Given the description of an element on the screen output the (x, y) to click on. 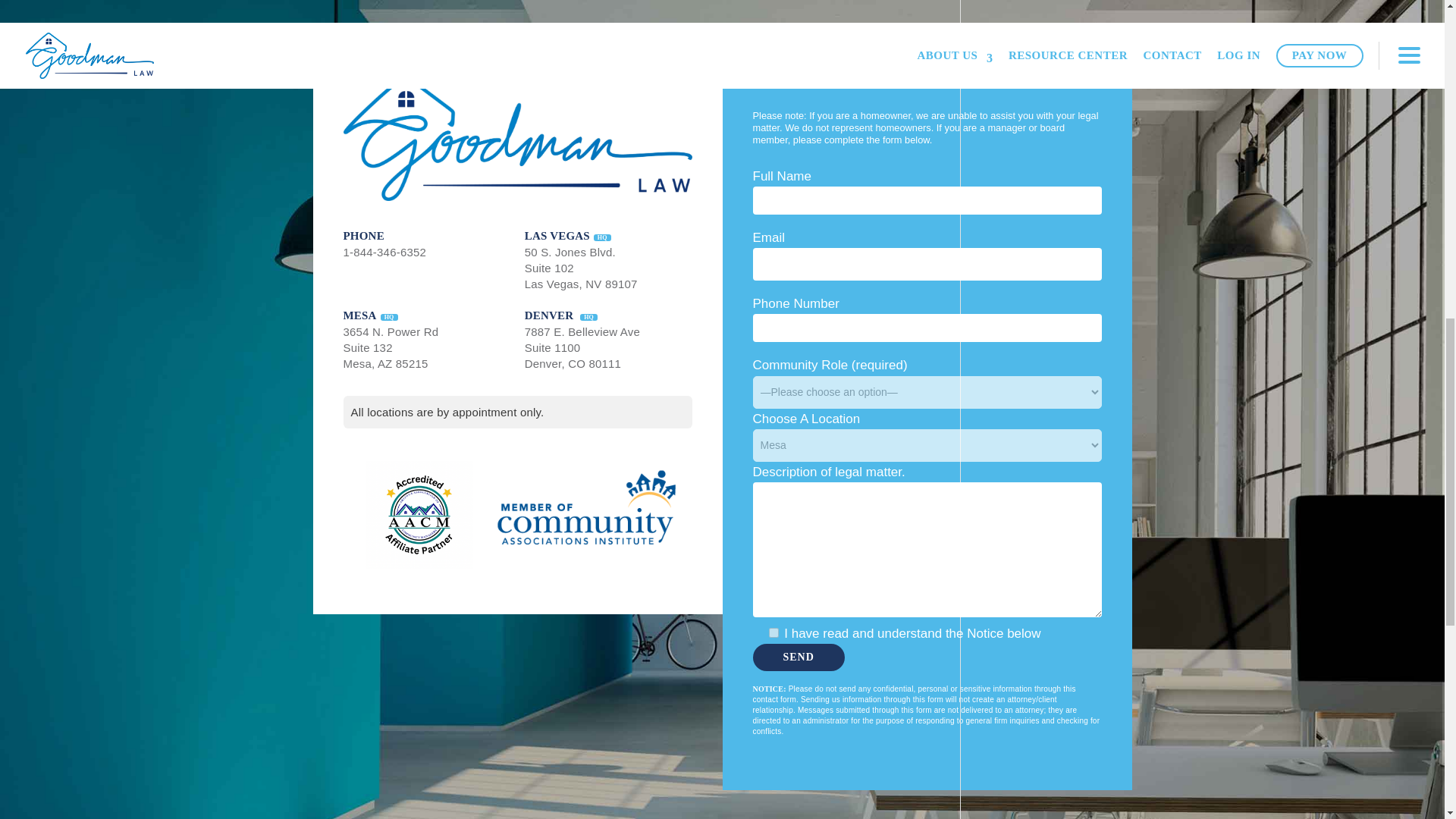
Send (798, 656)
Send (798, 656)
1-844-346-6352 (390, 347)
1 (384, 251)
